Given the description of an element on the screen output the (x, y) to click on. 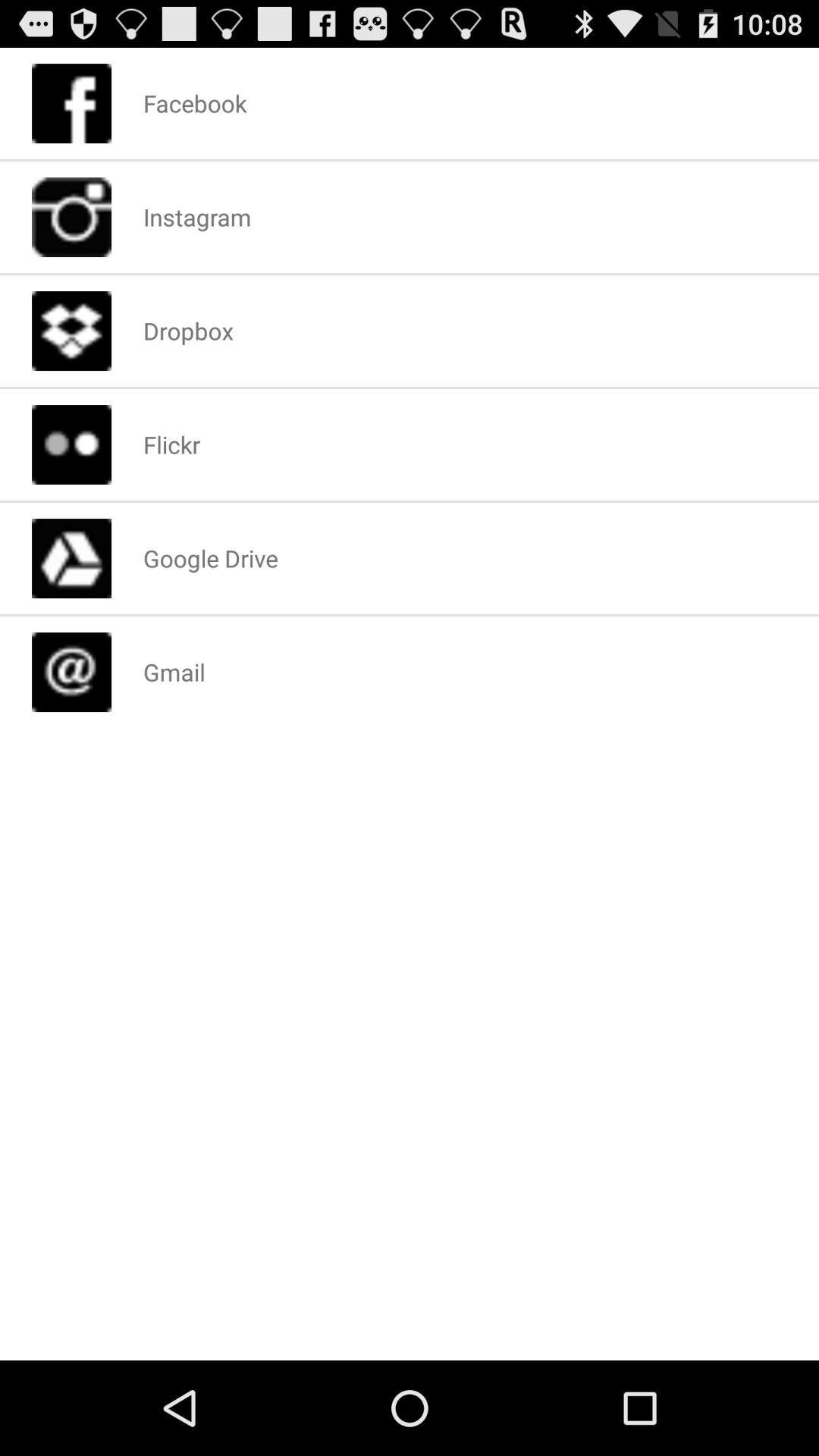
jump to flickr icon (171, 444)
